Given the description of an element on the screen output the (x, y) to click on. 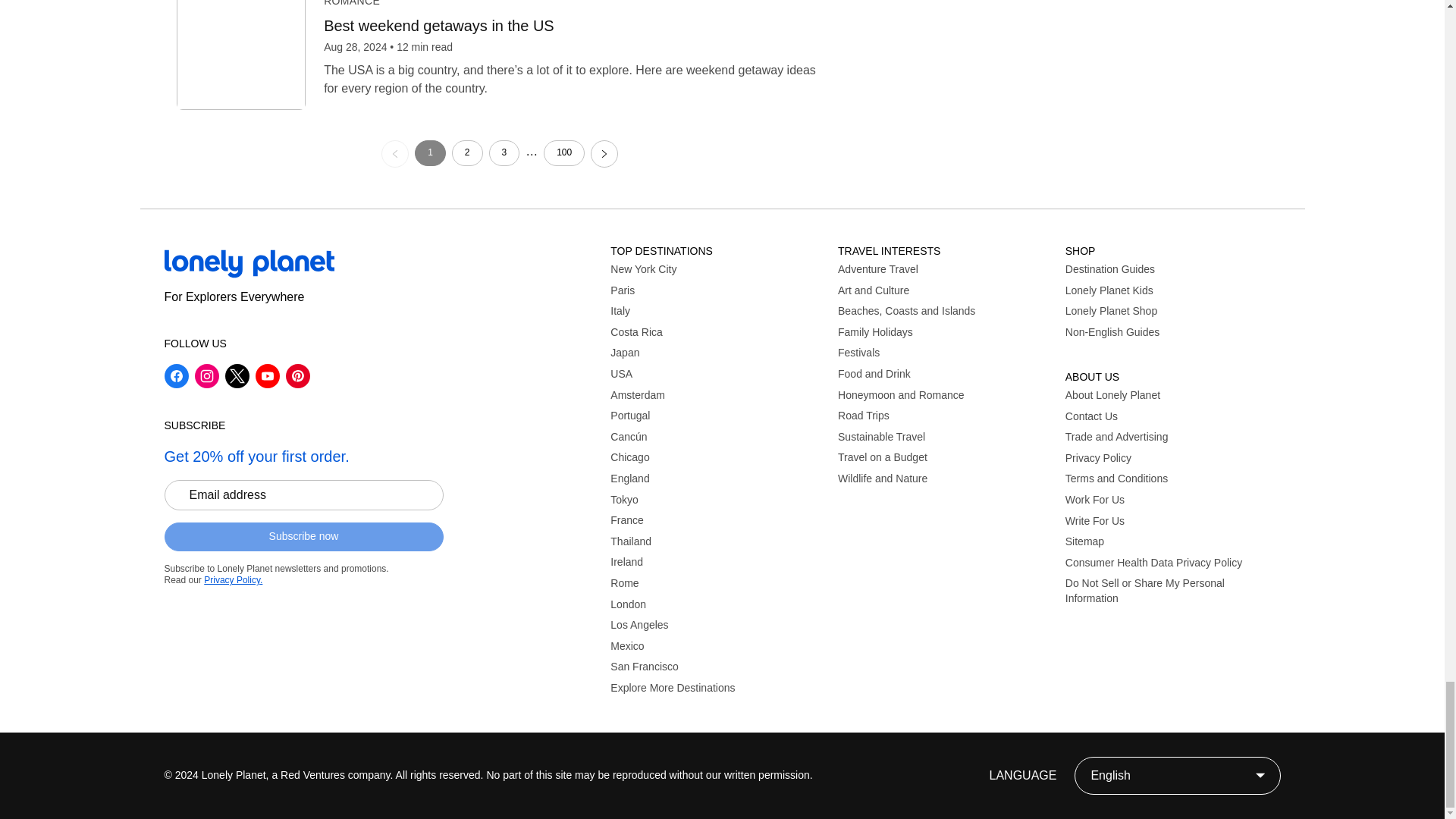
3 (503, 153)
100 (564, 153)
1 (429, 153)
Best weekend getaways in the US (573, 25)
2 (467, 153)
